Given the description of an element on the screen output the (x, y) to click on. 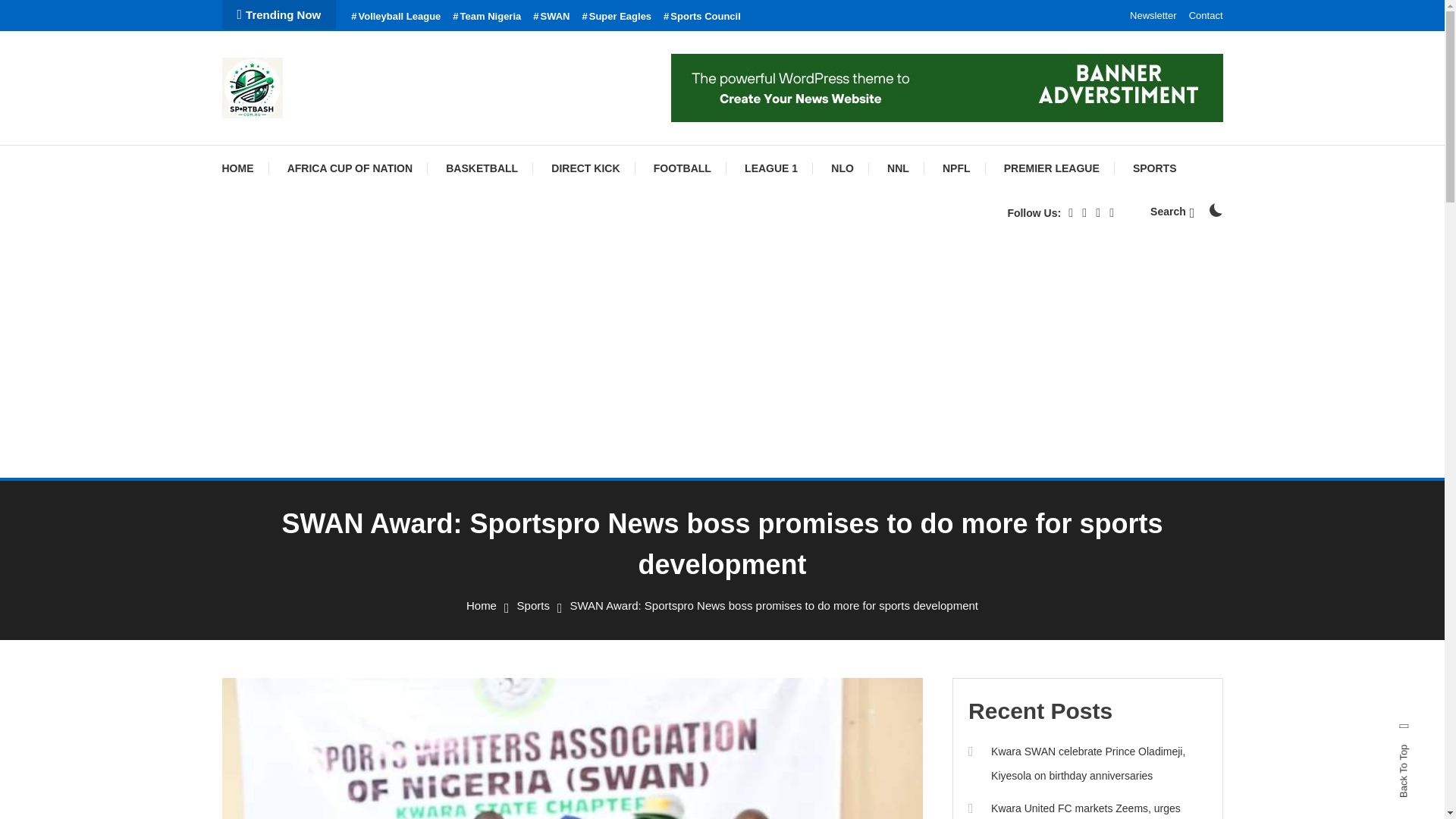
SportsBash (297, 137)
Contact (1206, 15)
Team Nigeria (486, 16)
Newsletter (1152, 15)
Volleyball League (395, 16)
Search (768, 434)
on (1215, 210)
BASKETBALL (481, 167)
DIRECT KICK (584, 167)
HOME (244, 167)
NLO (842, 167)
FOOTBALL (682, 167)
NNL (898, 167)
PREMIER LEAGUE (1051, 167)
